Given the description of an element on the screen output the (x, y) to click on. 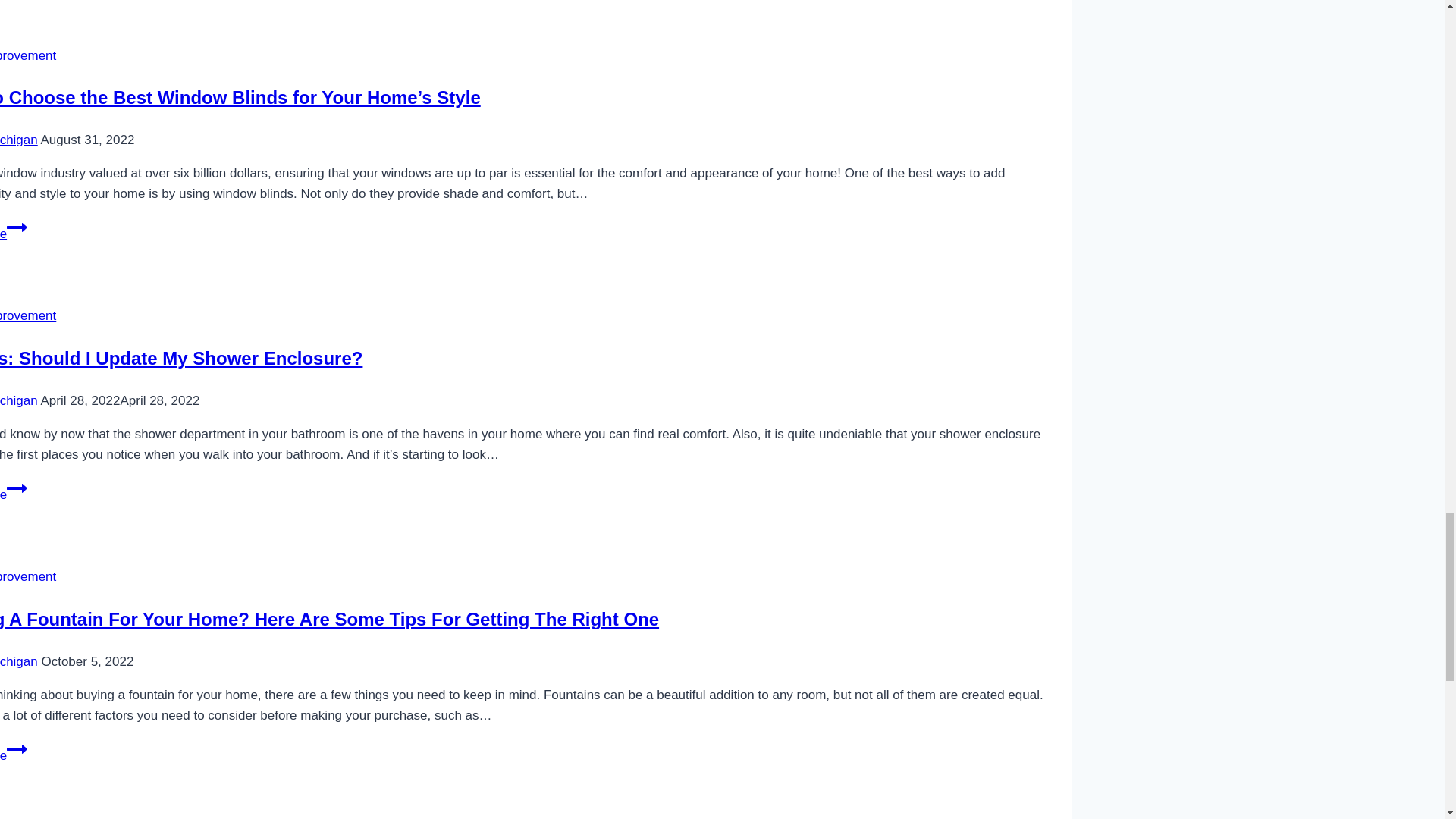
Continue (17, 487)
Continue (17, 227)
Continue (17, 749)
Home Improvement (28, 55)
